Given the description of an element on the screen output the (x, y) to click on. 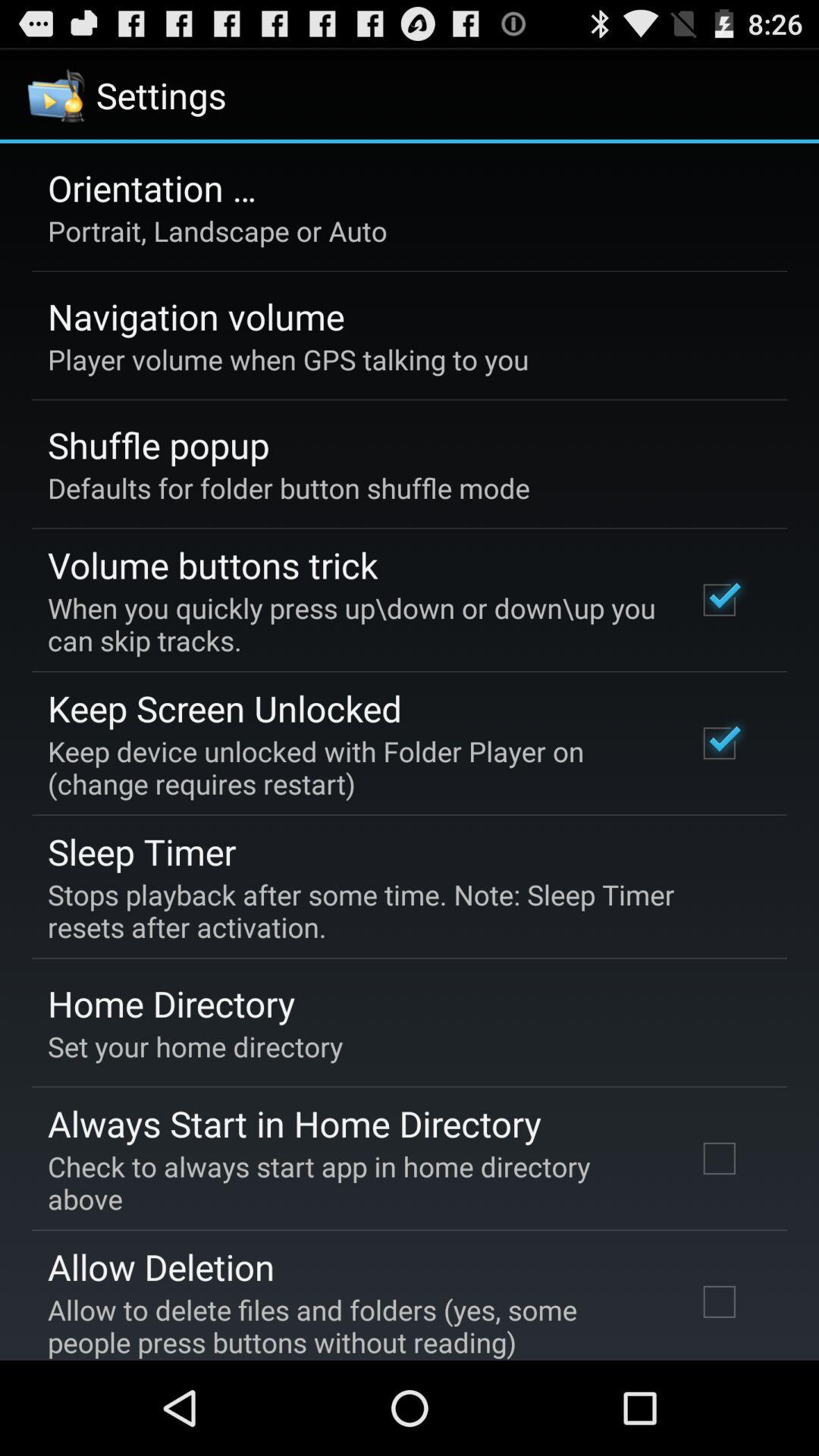
select shuffle popup (158, 444)
